Given the description of an element on the screen output the (x, y) to click on. 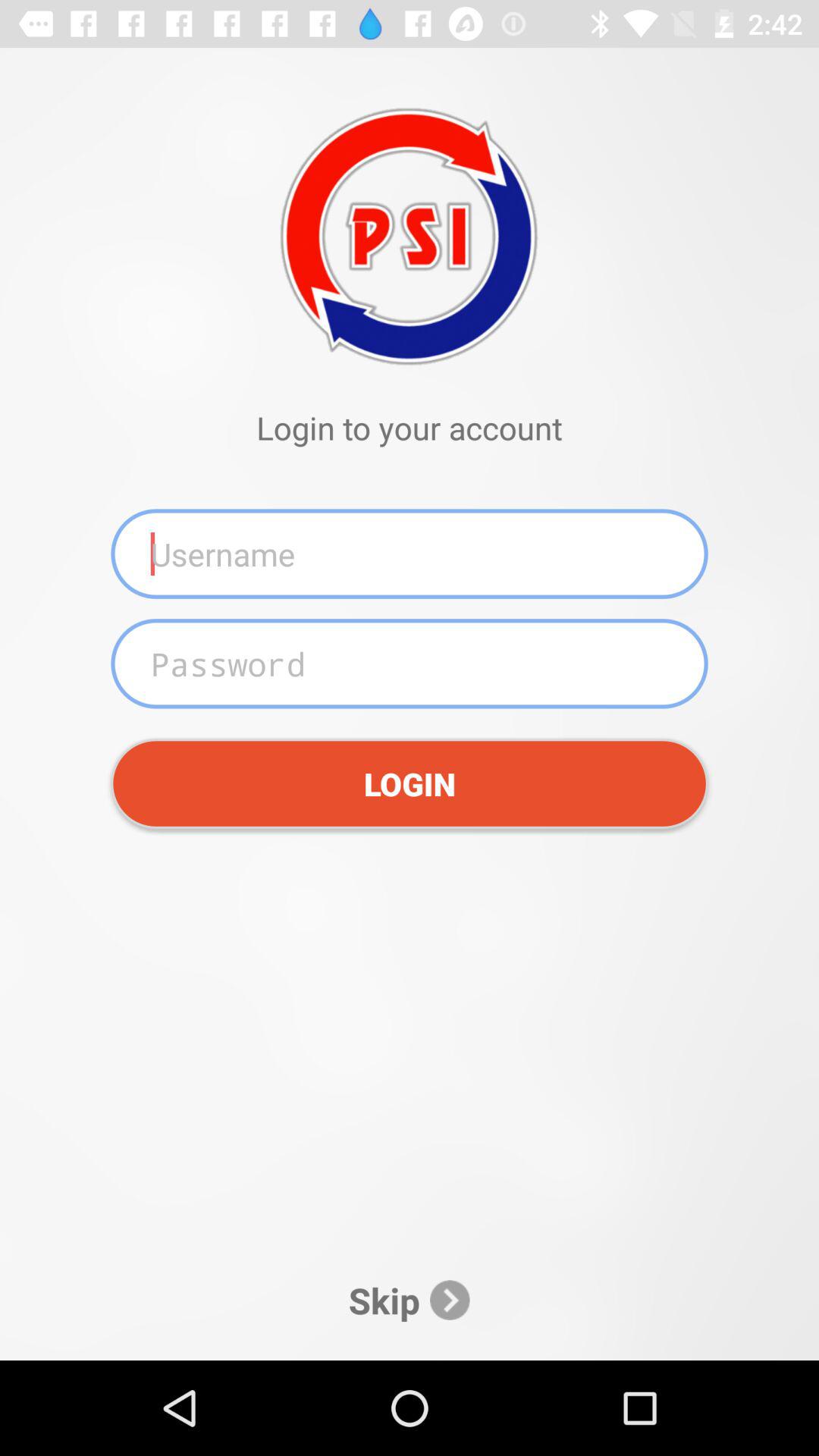
turn on item above the login item (409, 663)
